Given the description of an element on the screen output the (x, y) to click on. 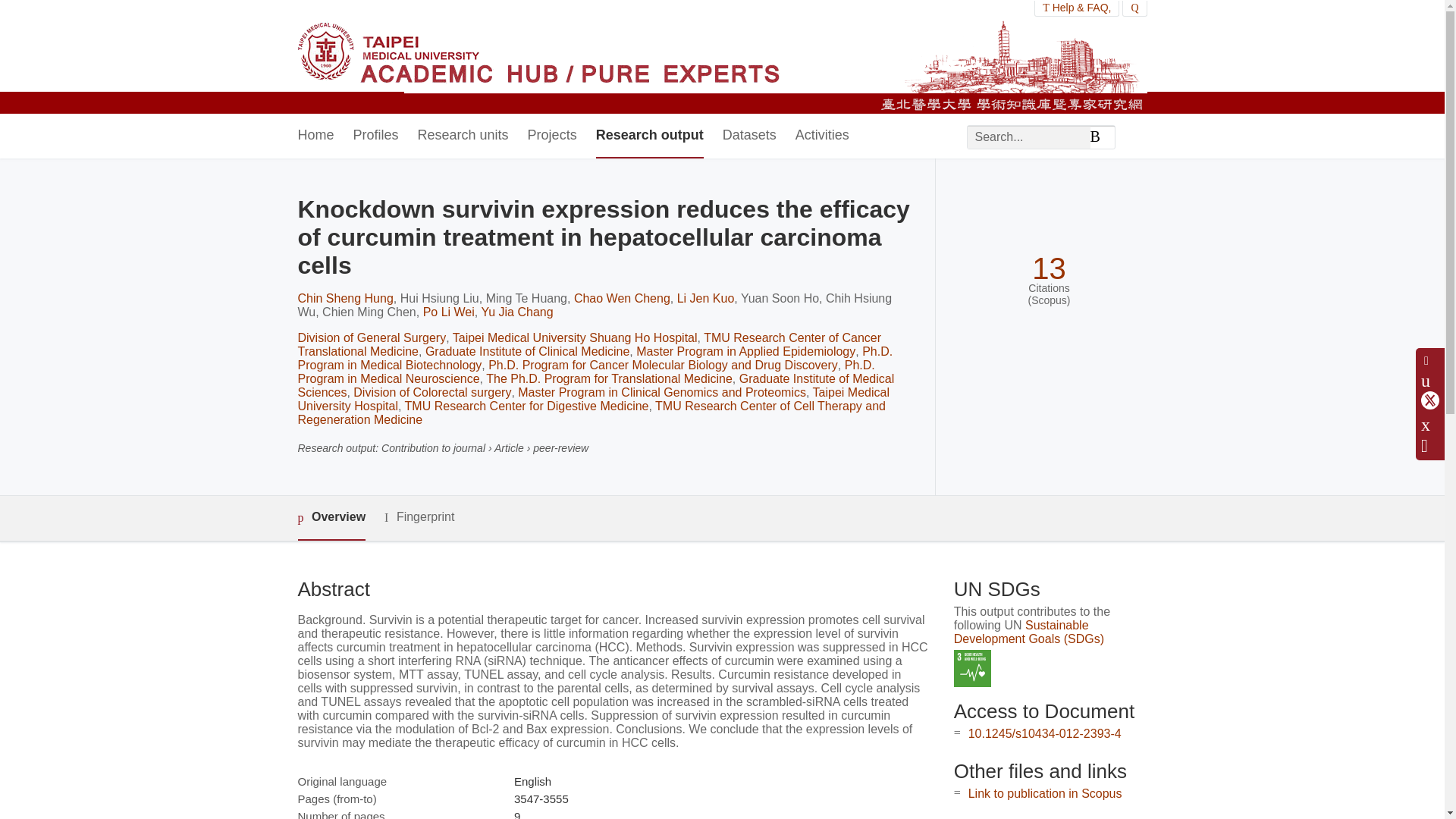
TMU Research Center for Digestive Medicine (526, 405)
Ph.D. Program in Medical Neuroscience (586, 371)
Taipei Medical University Hospital (592, 398)
Li Jen Kuo (706, 297)
Yu Jia Chang (516, 311)
Taipei Medical University Home (537, 56)
Chao Wen Cheng (621, 297)
13 (1048, 268)
Research output (649, 135)
Datasets (749, 135)
TMU Research Center of Cancer Translational Medicine (588, 344)
Master Program in Applied Epidemiology (746, 350)
Master Program in Clinical Genomics and Proteomics (662, 391)
